Given the description of an element on the screen output the (x, y) to click on. 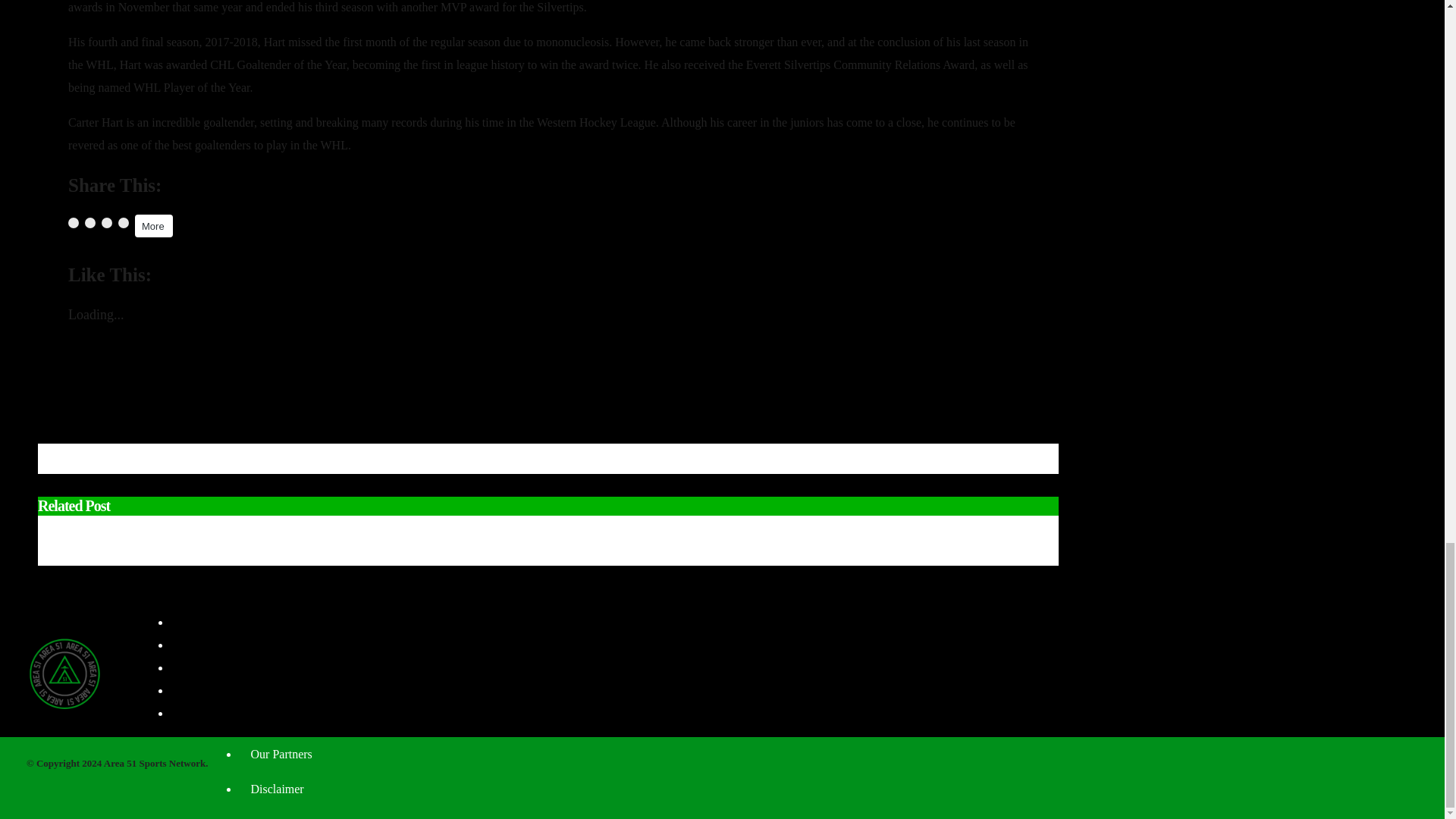
More (154, 225)
Click to share on X (90, 222)
Click to share on Threads (123, 222)
WHL Best of the 2010s: Mac Carruth (173, 378)
Click to share on LinkedIn (106, 222)
Click to share on Facebook (73, 222)
2024 WHL Draft Recap: Edmonton Oil Kings (518, 530)
Robbie Fromm-Delorme: Becoming the Old Guard (210, 401)
